Given the description of an element on the screen output the (x, y) to click on. 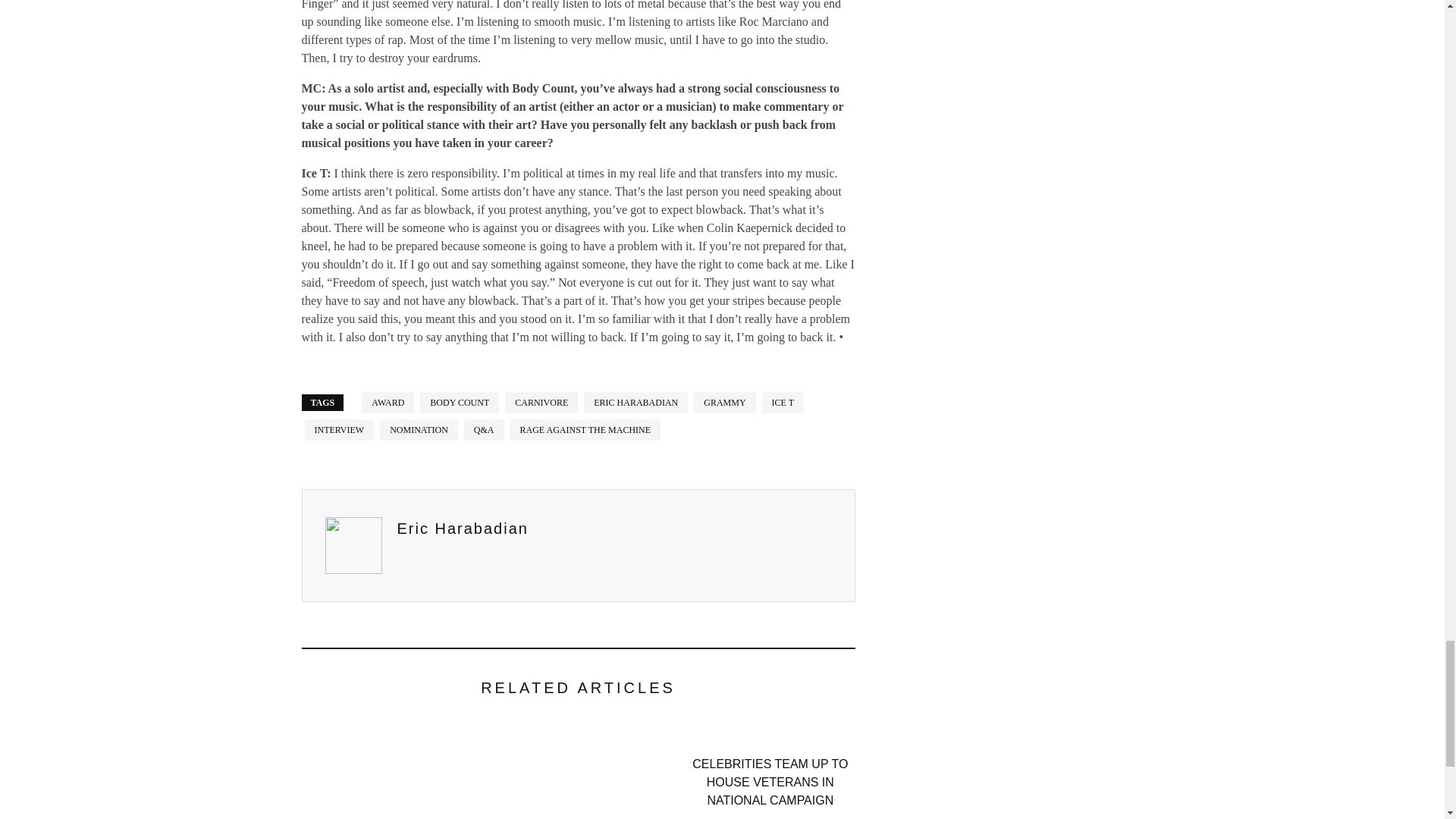
View all posts tagged eric harabadian (635, 402)
View all posts tagged nomination (419, 429)
View all posts tagged Award (387, 402)
View all posts tagged body count (459, 402)
View all posts tagged carnivore (541, 402)
View all posts tagged interview (339, 429)
View all posts tagged Grammy (724, 402)
View all posts tagged rage against the machine (586, 429)
View all posts tagged ice t (782, 402)
